Given the description of an element on the screen output the (x, y) to click on. 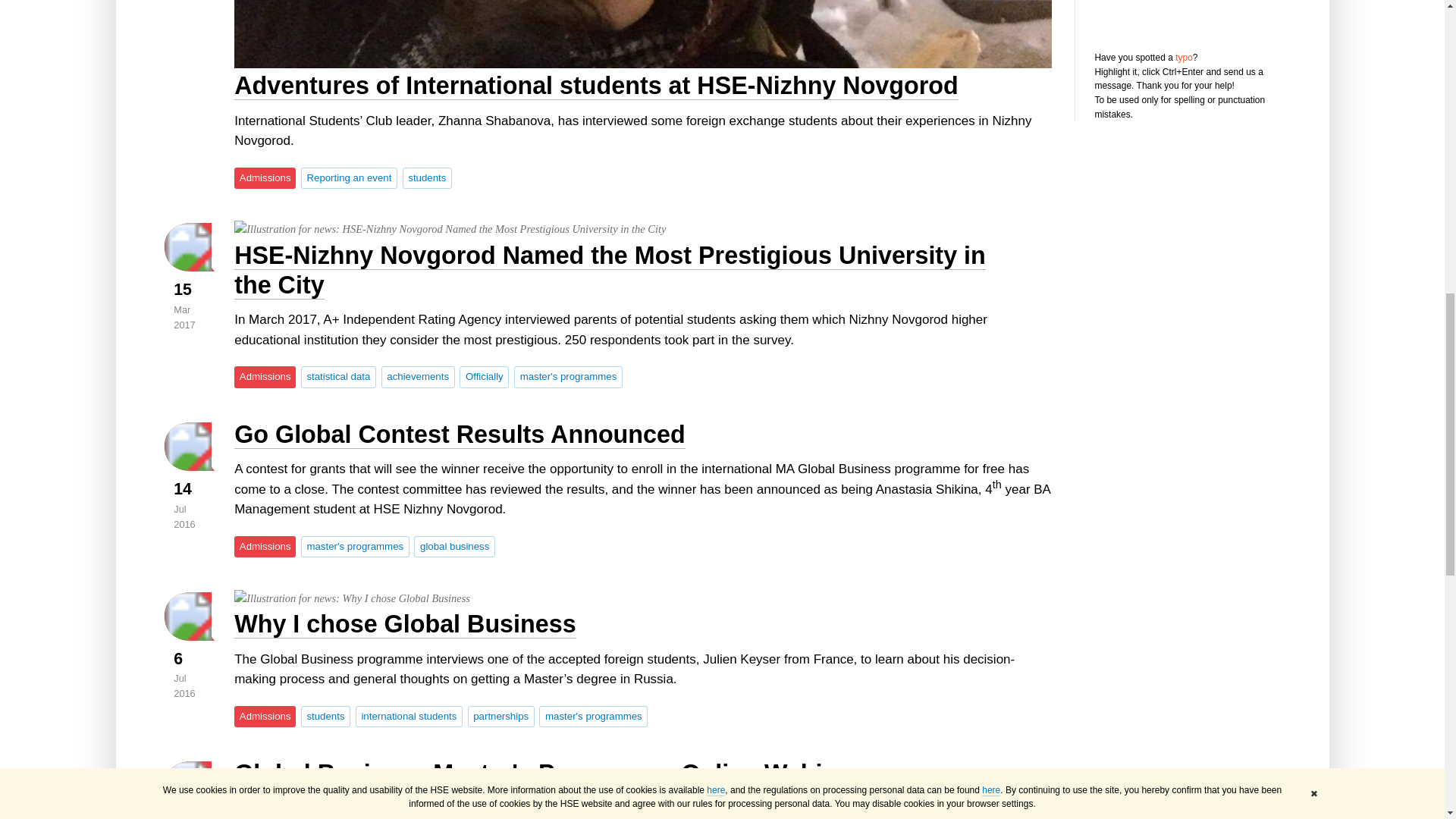
Officially (484, 376)
international students (409, 716)
Admissions (264, 376)
students (325, 716)
global business (454, 546)
Adventures of International students at HSE-Nizhny Novgorod (642, 33)
statistical data (338, 376)
partnerships (500, 716)
